Given the description of an element on the screen output the (x, y) to click on. 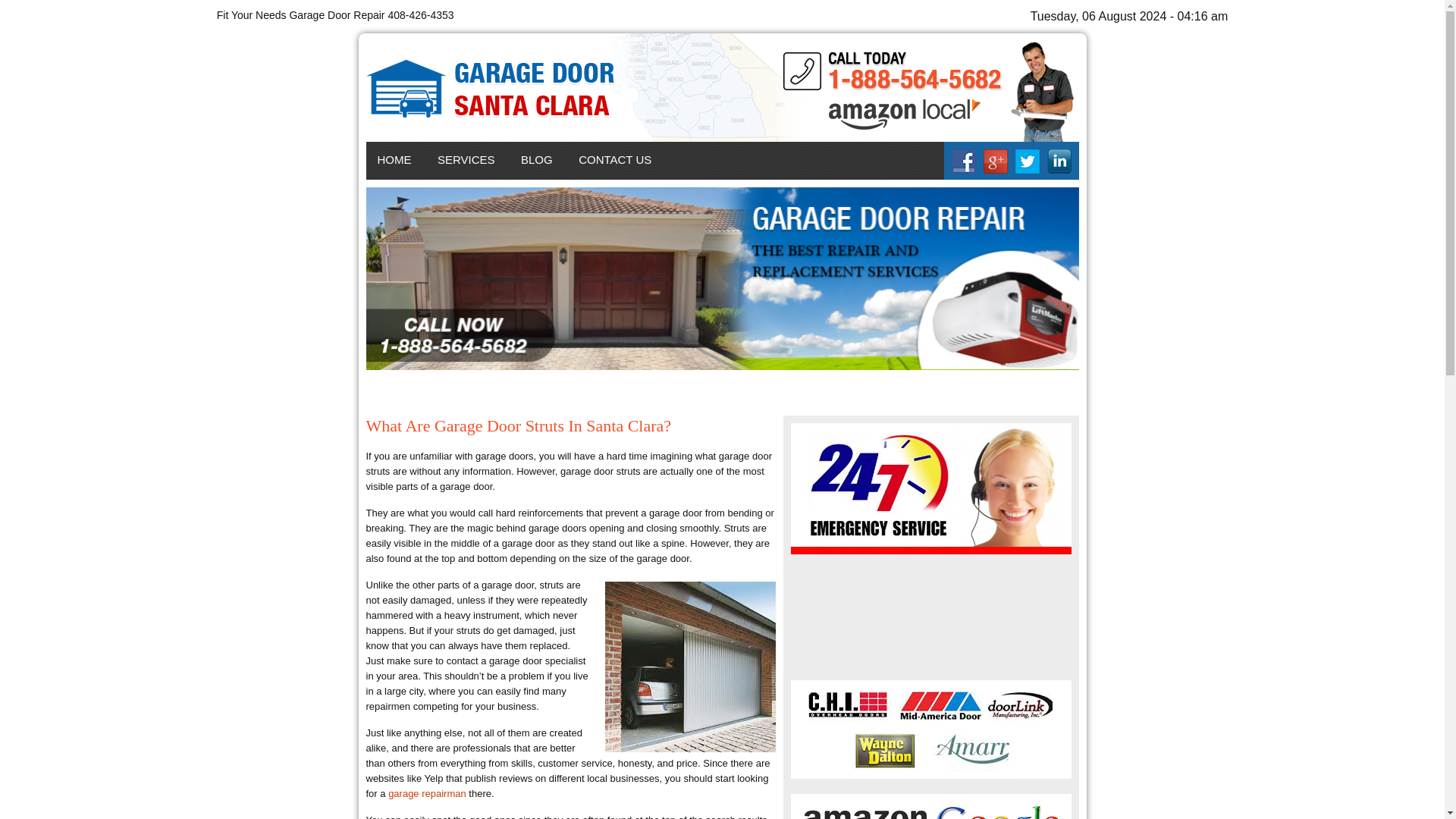
 LinkedIn (1058, 161)
BLOG (536, 159)
SERVICES (466, 159)
HOME (393, 159)
garage repairman (426, 793)
 Twitter (1026, 161)
GARAGE DOOR SPRING REPAIR SANTA CLARA (512, 212)
 Facebook (962, 161)
CONTACT US (614, 159)
